Given the description of an element on the screen output the (x, y) to click on. 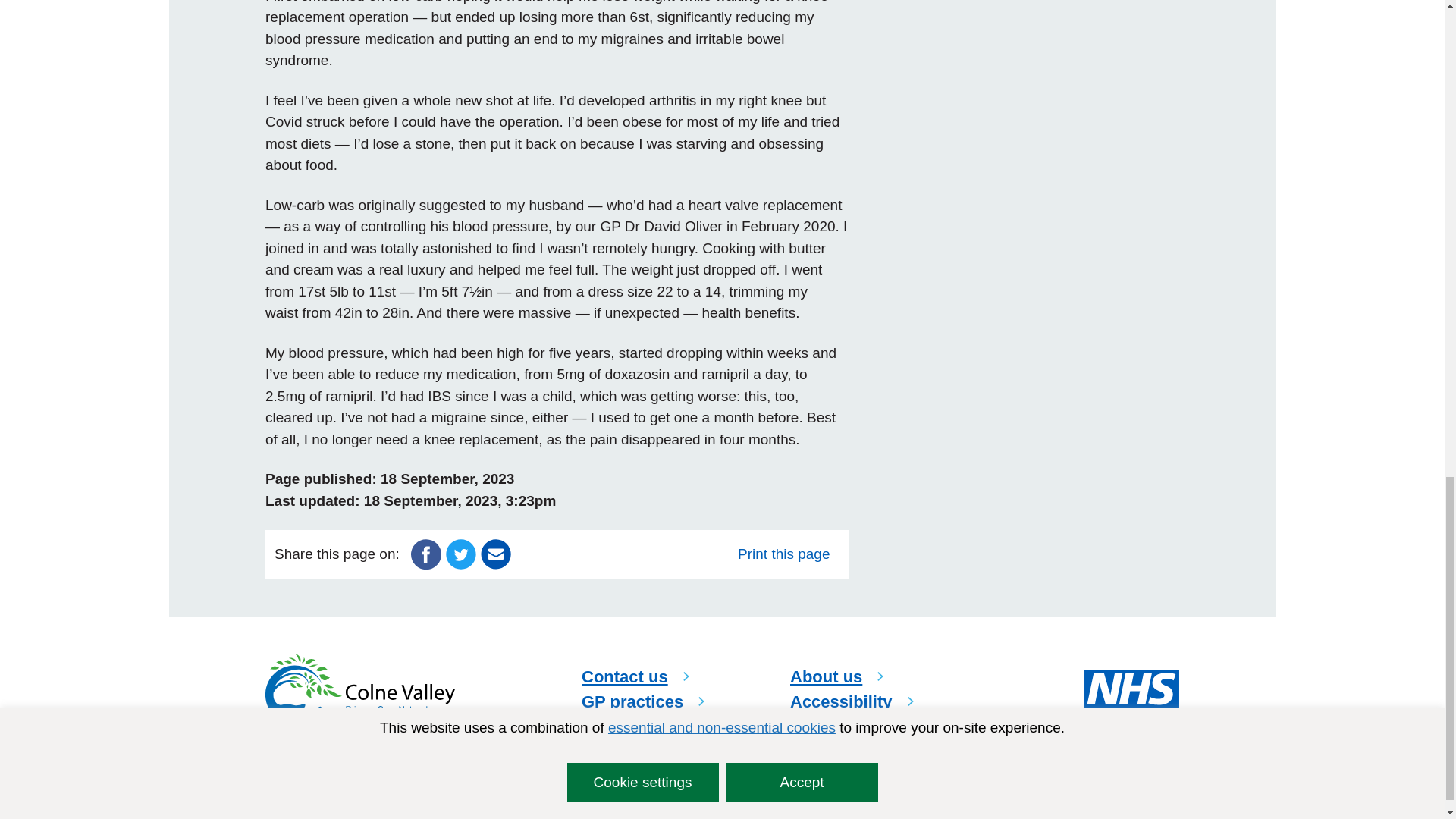
Share on Facebook (425, 553)
Contact us (635, 676)
Share via Email (495, 553)
The Colne Valley PCN Homepage (359, 688)
GP practices (643, 700)
Accessibility (852, 700)
Print this page (788, 554)
Privacy (284, 783)
Terms and conditions (380, 783)
Share on Twitter (460, 553)
About us (837, 676)
